Given the description of an element on the screen output the (x, y) to click on. 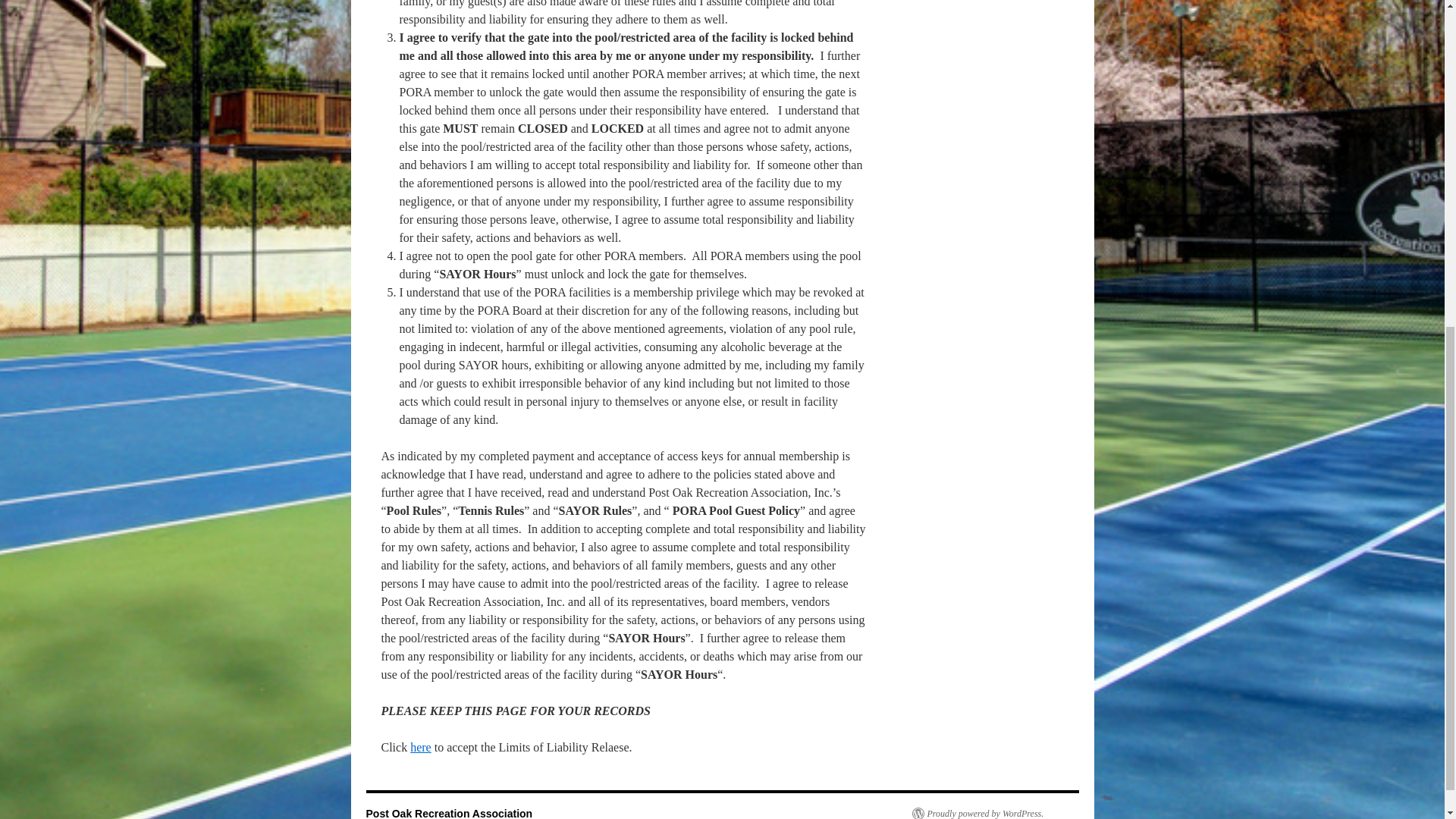
here (420, 747)
